Given the description of an element on the screen output the (x, y) to click on. 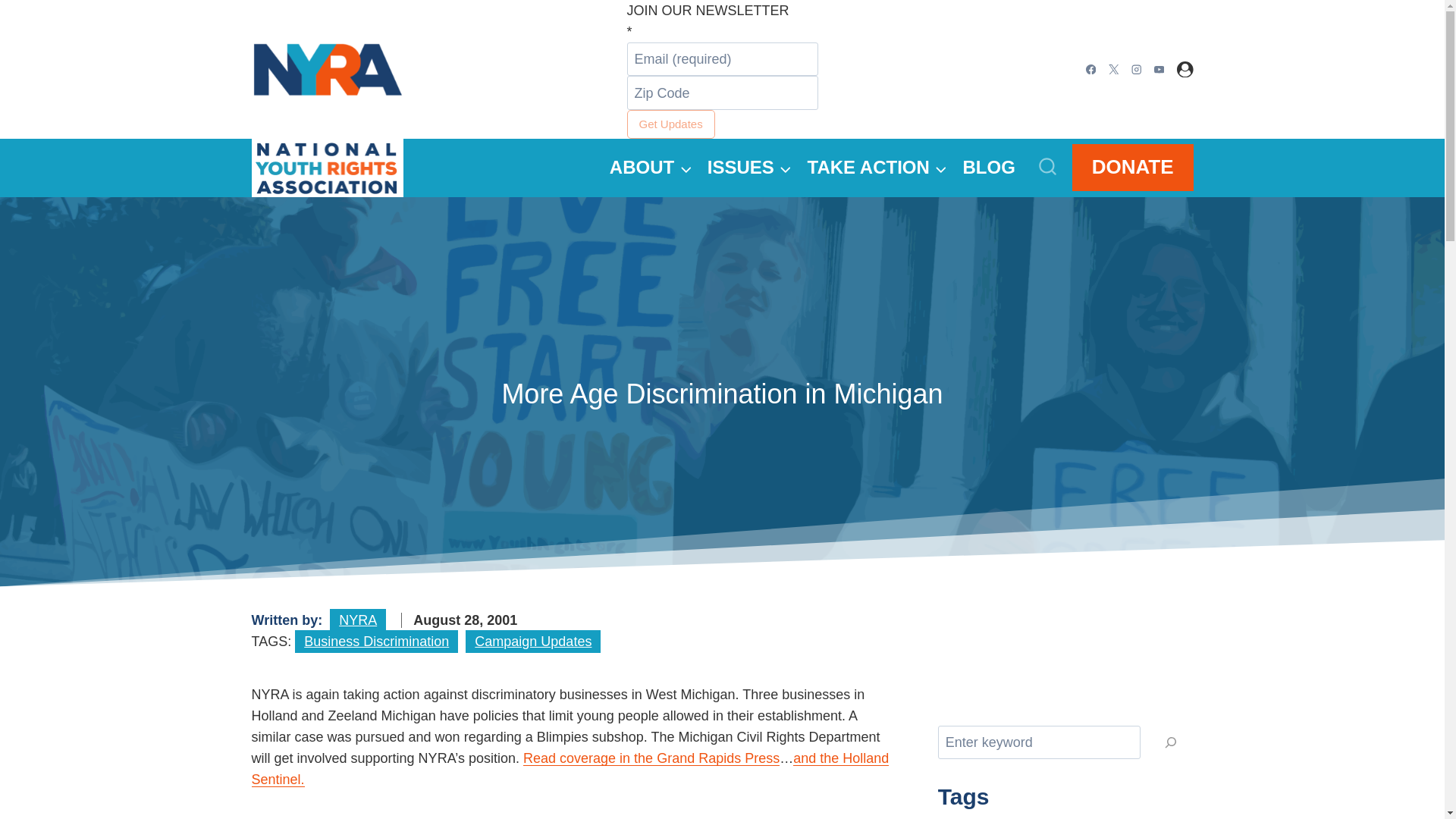
Read coverage in the Grand Rapids Press (650, 758)
BLOG (989, 167)
ABOUT (651, 167)
NYRA (357, 620)
and the Holland Sentinel. (570, 769)
DONATE (1132, 167)
ISSUES (749, 167)
Campaign Updates (532, 640)
TAKE ACTION (877, 167)
Business Discrimination (376, 640)
Get Updates (670, 123)
